Given the description of an element on the screen output the (x, y) to click on. 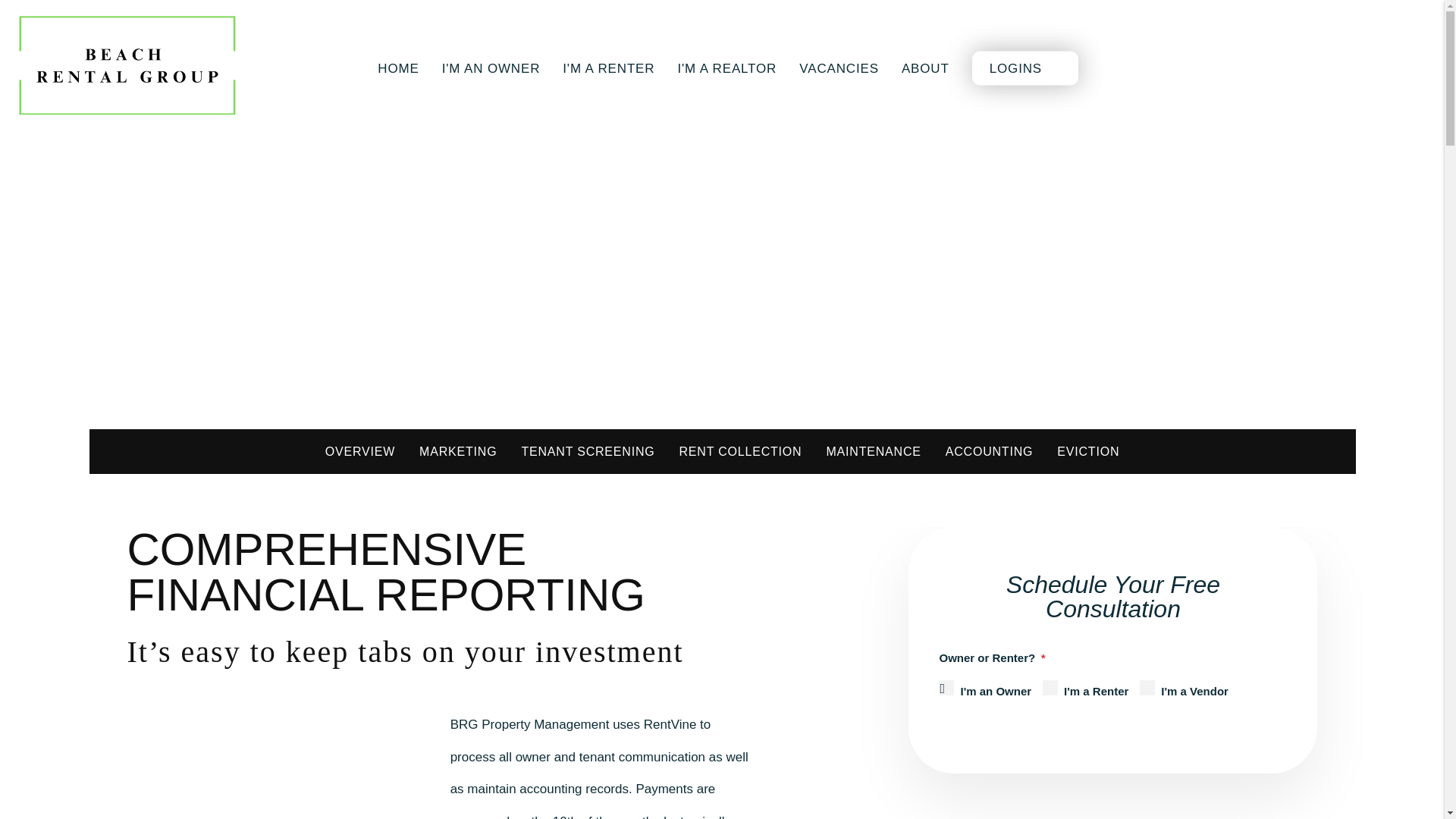
ABOUT (925, 67)
LOGINS (1013, 67)
I'M A RENTER (607, 67)
HOME (398, 67)
I'M AN OWNER (491, 67)
VACANCIES (839, 67)
I'M A REALTOR (726, 67)
